Given the description of an element on the screen output the (x, y) to click on. 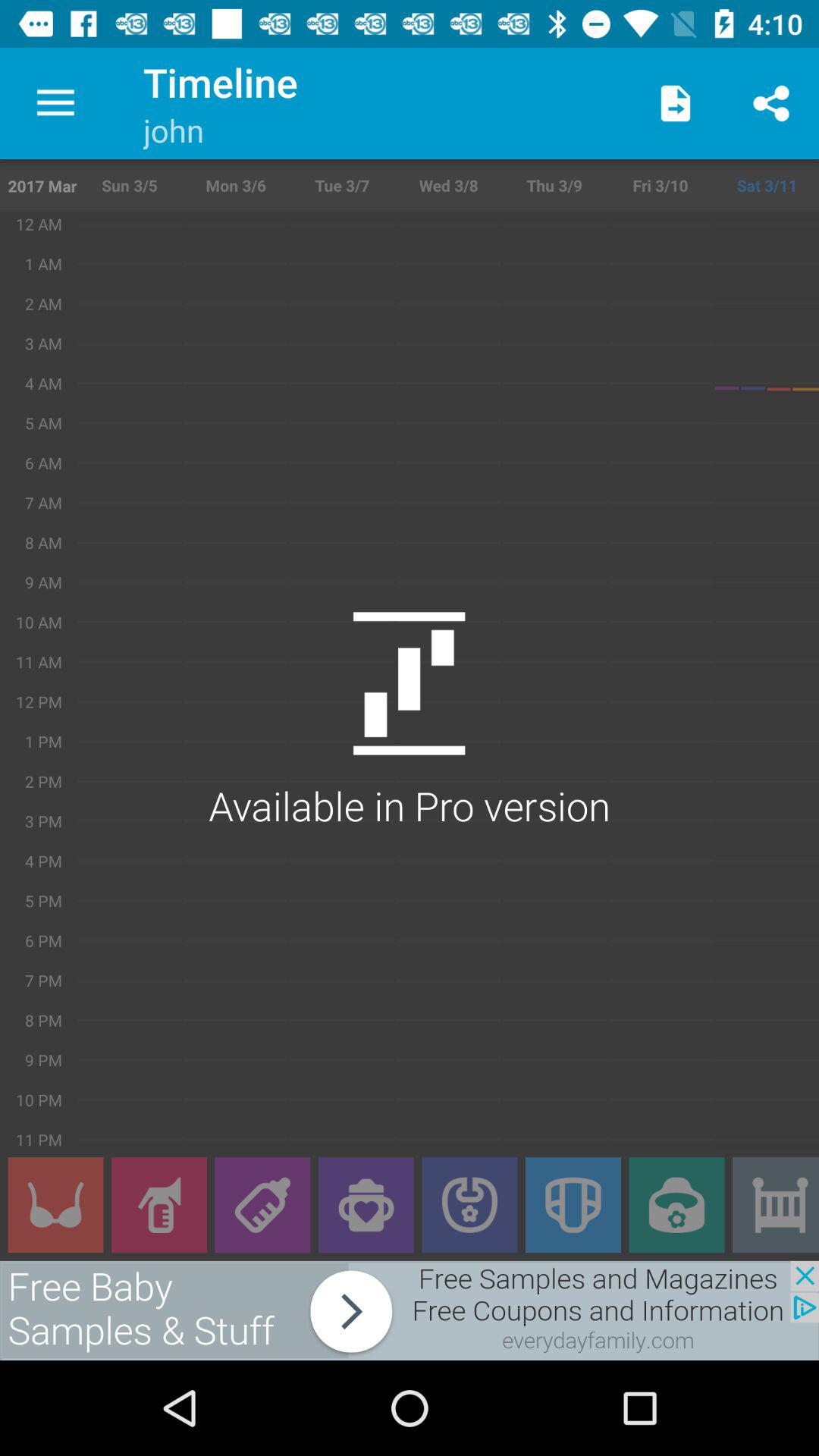
add item (775, 1204)
